Given the description of an element on the screen output the (x, y) to click on. 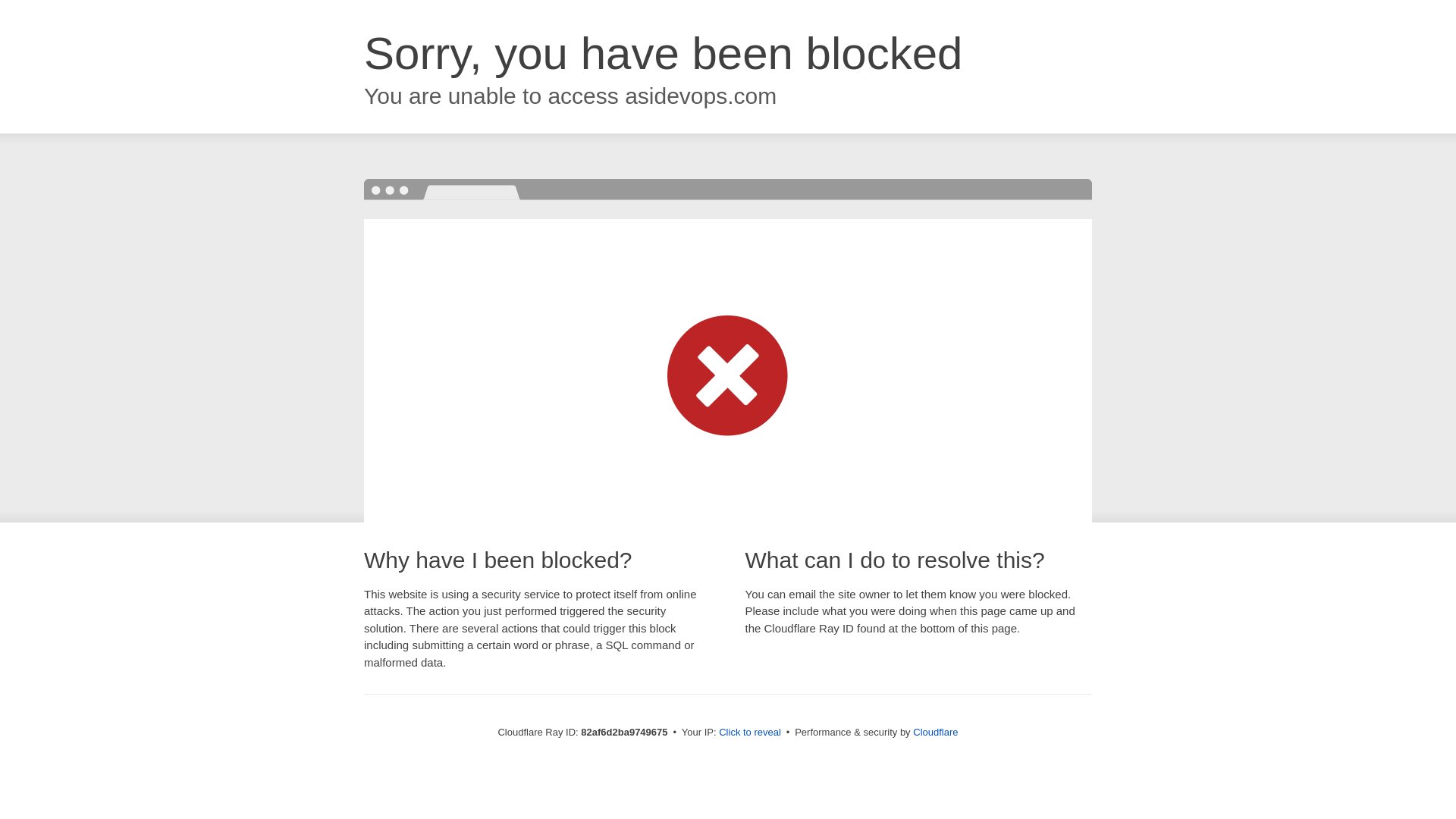
Cloudflare Element type: text (935, 731)
Click to reveal Element type: text (749, 732)
